Given the description of an element on the screen output the (x, y) to click on. 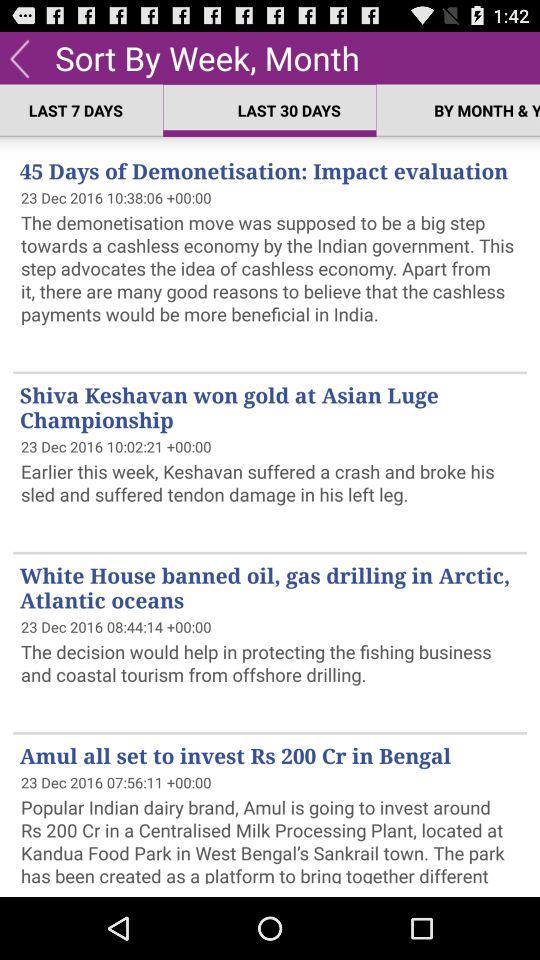
sort a different way (19, 57)
